Given the description of an element on the screen output the (x, y) to click on. 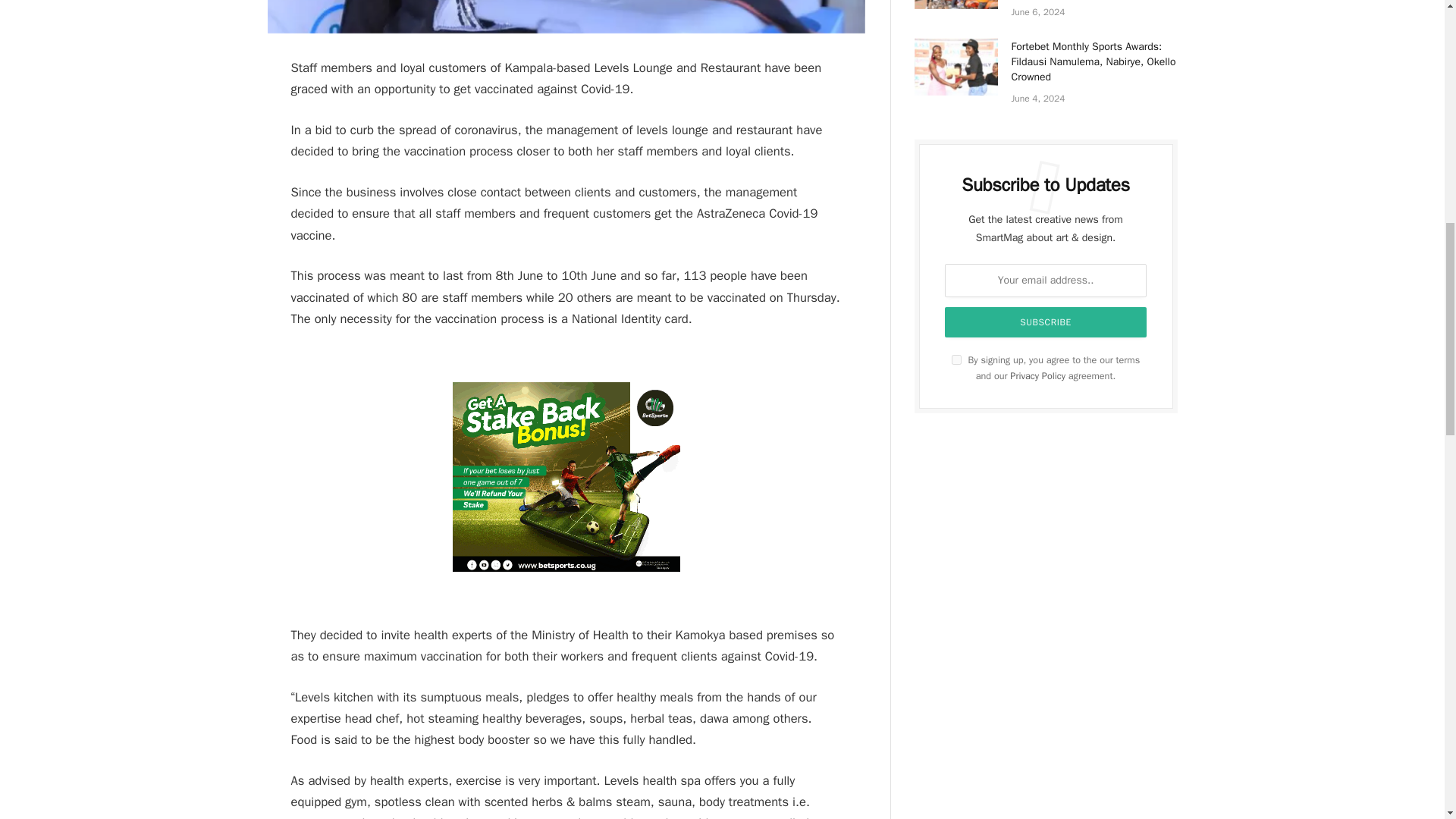
on (956, 359)
Subscribe (1045, 322)
